Given the description of an element on the screen output the (x, y) to click on. 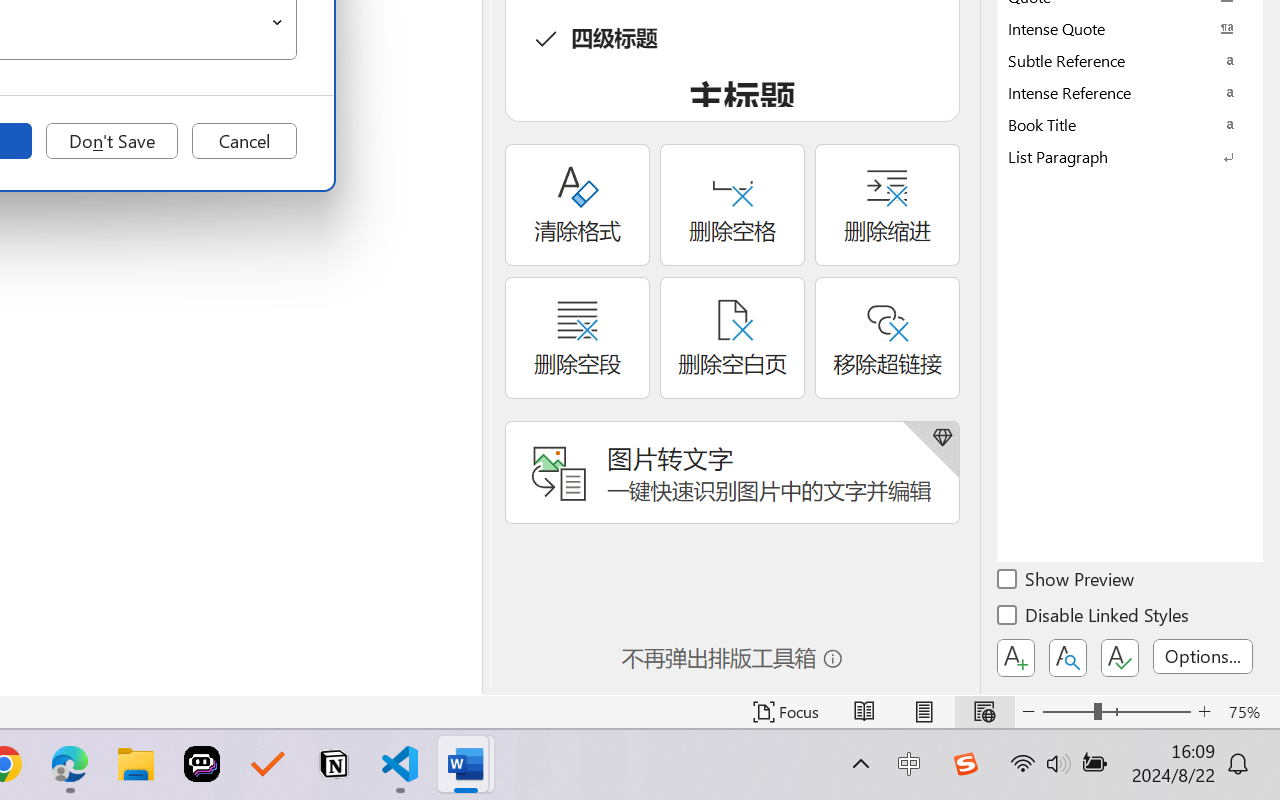
Cancel (244, 141)
List Paragraph (1130, 156)
